Given the description of an element on the screen output the (x, y) to click on. 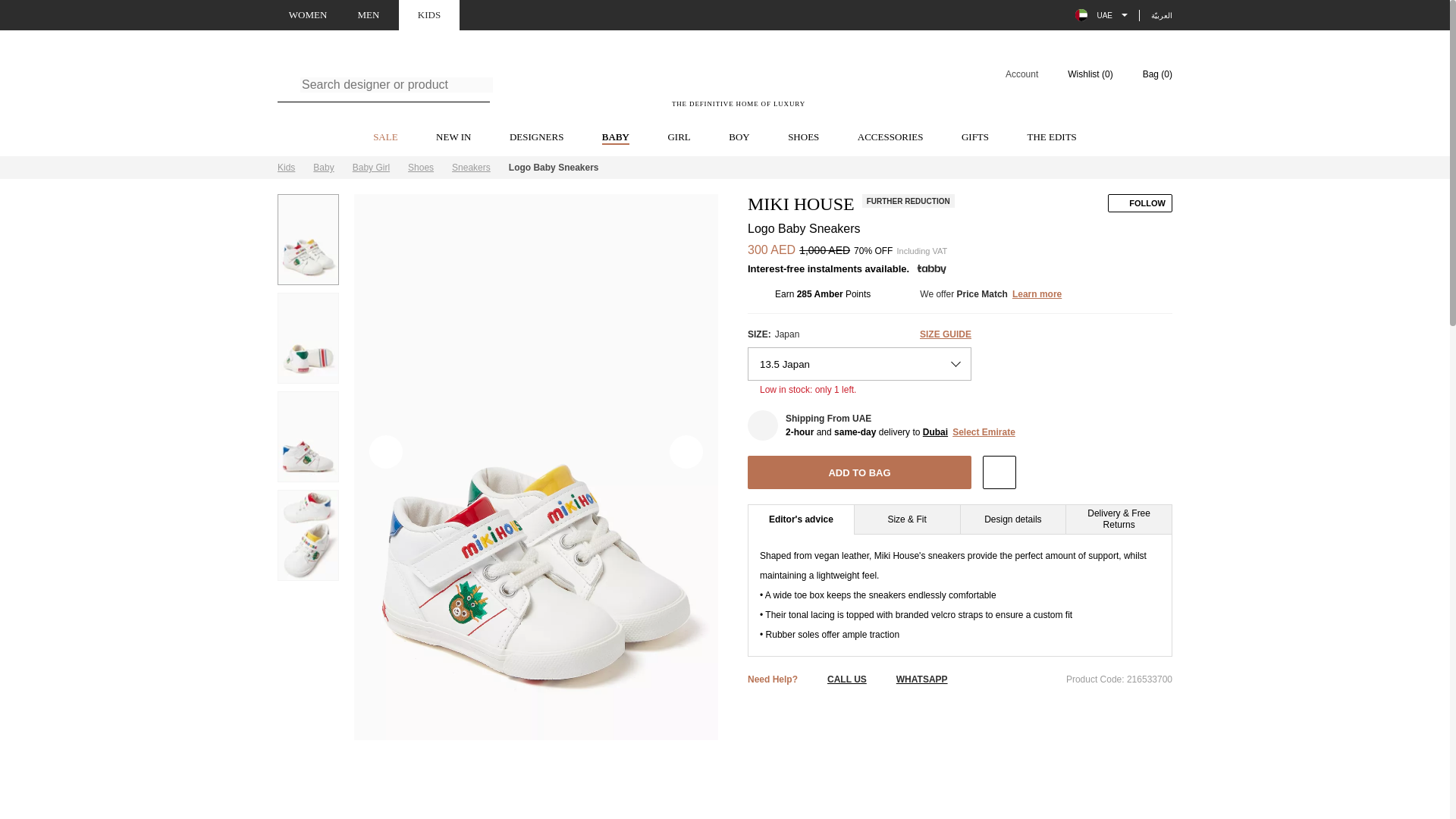
Baby Girl (371, 167)
ACCESSORIES (890, 137)
Baby (323, 167)
BABY (615, 137)
THE EDITS (1050, 137)
WOMEN (725, 167)
GIRL (307, 15)
Account (678, 137)
Shoes (1012, 73)
DESIGNERS (420, 167)
SALE (536, 137)
THE DEFINITIVE HOME OF LUXURY (384, 137)
MEN (738, 83)
BOY (367, 15)
